Given the description of an element on the screen output the (x, y) to click on. 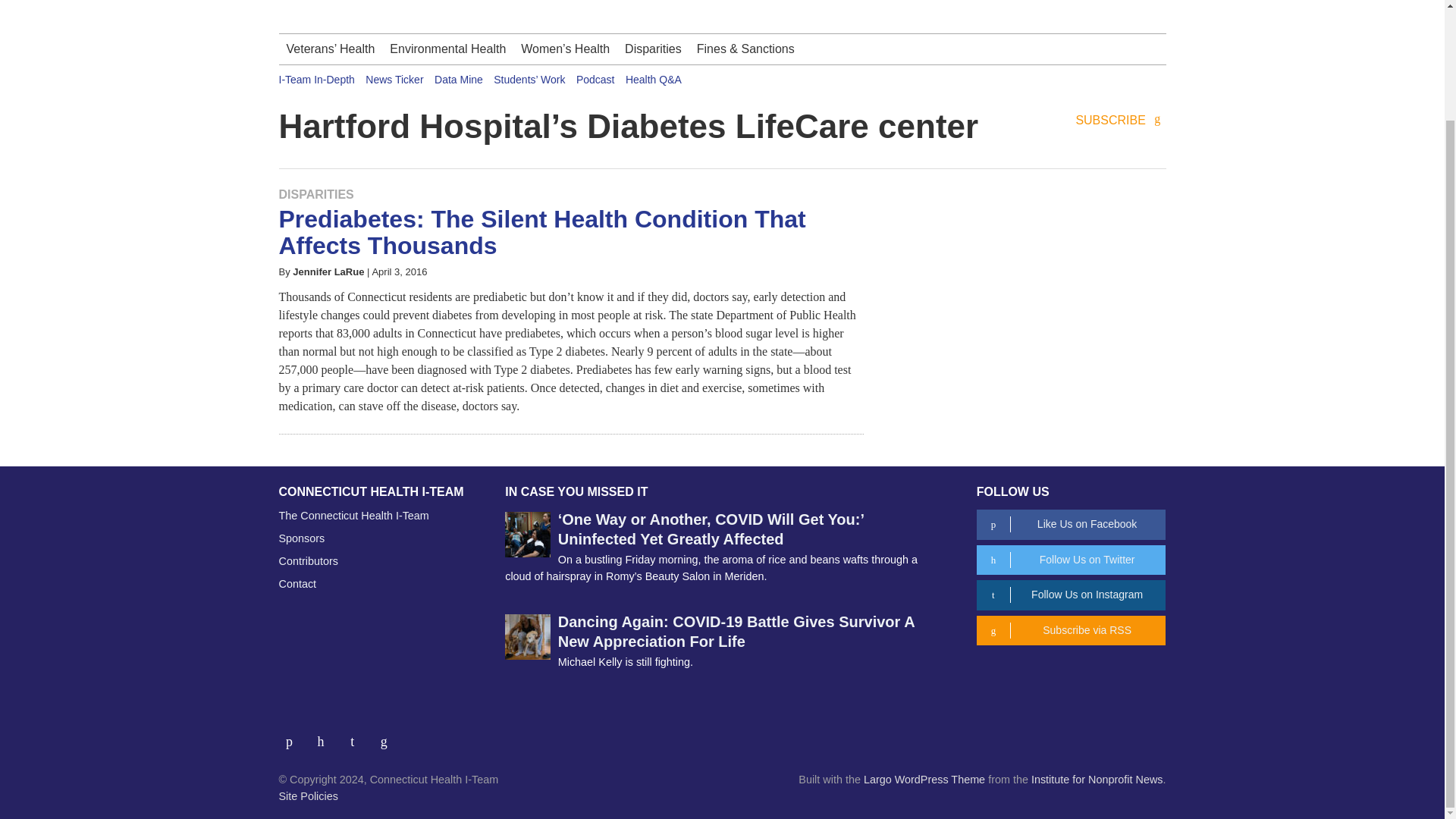
Link to Facebook Profile (295, 735)
Link to Twitter Page (326, 735)
Podcast (595, 79)
Link to RSS Feed (384, 735)
I-Team In-Depth (317, 79)
Read Stories in the Disparities category (316, 194)
DISPARITIES (316, 194)
News Ticker (394, 79)
Link to Instagram Page (358, 735)
Data Mine (458, 79)
